Given the description of an element on the screen output the (x, y) to click on. 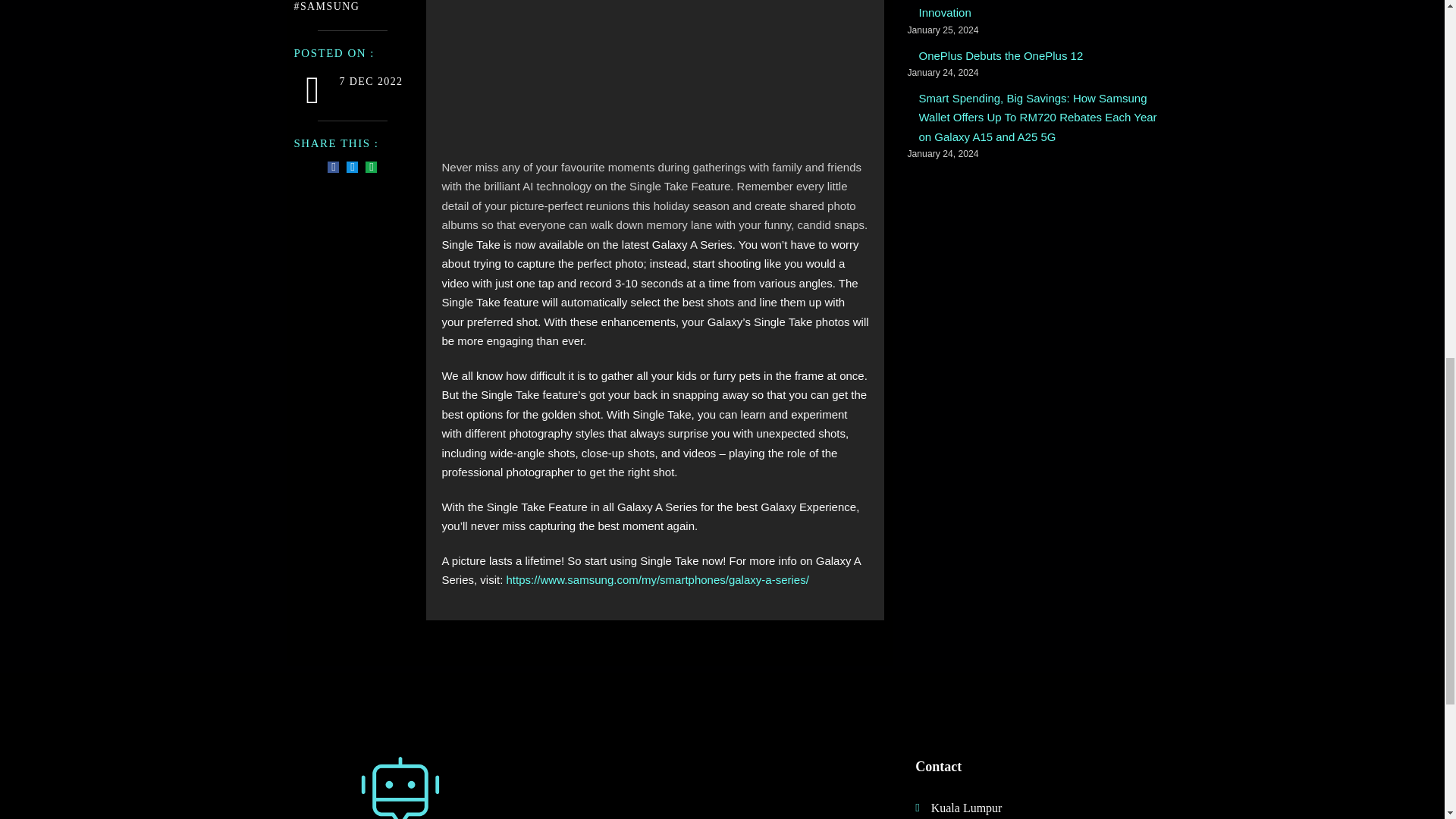
Kuala Lumpur (1017, 807)
OnePlus Debuts the OnePlus 12 (1000, 55)
